Given the description of an element on the screen output the (x, y) to click on. 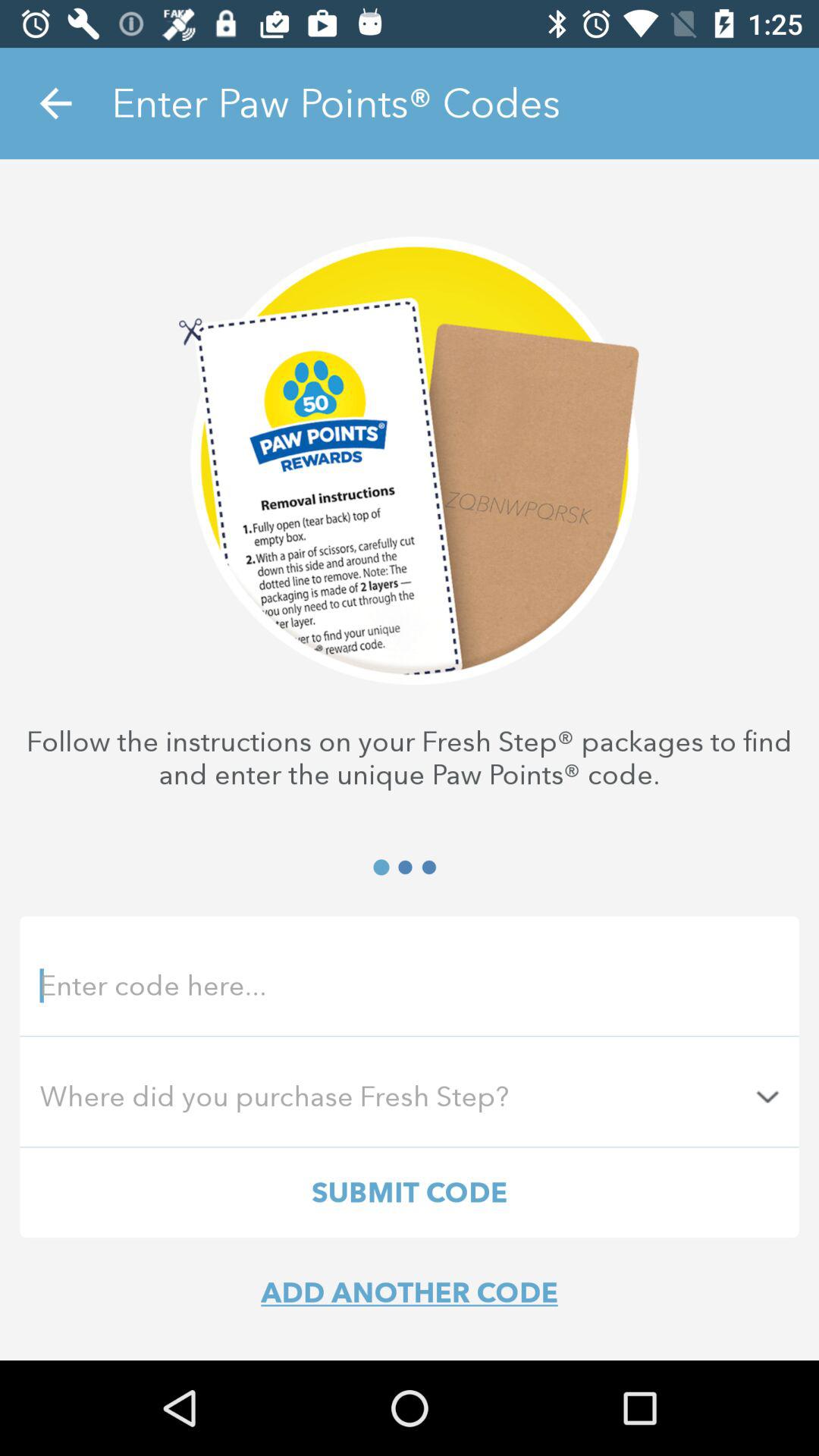
flip to add another code item (409, 1292)
